Given the description of an element on the screen output the (x, y) to click on. 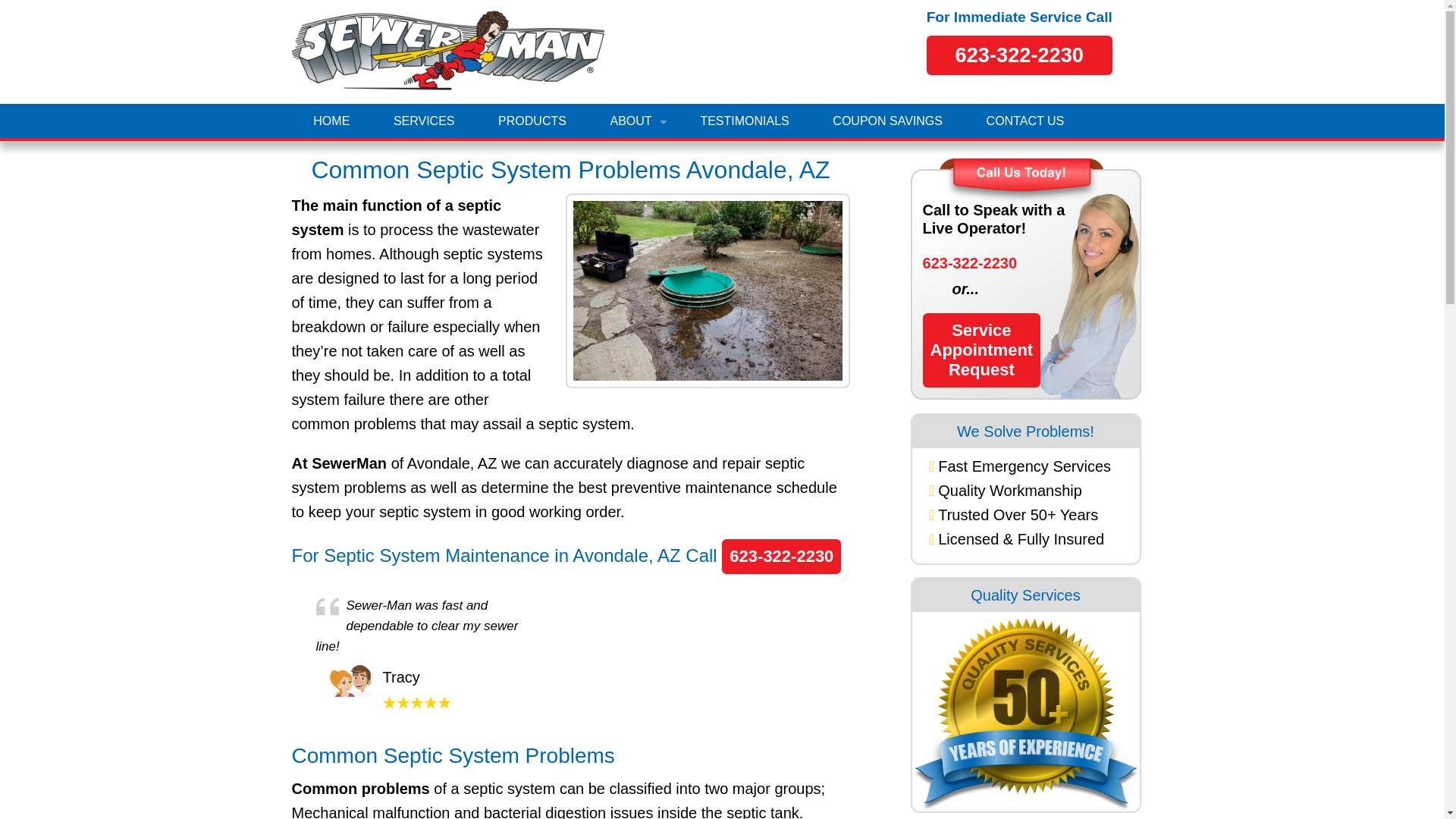
623-322-2230 (982, 349)
CONTACT US (970, 262)
SERVICES (1024, 121)
PRODUCTS (423, 121)
TESTIMONIALS (532, 121)
ABOUT (744, 121)
623-322-2230 (633, 121)
623-322-2230 (1019, 55)
COUPON SAVINGS (781, 556)
